Given the description of an element on the screen output the (x, y) to click on. 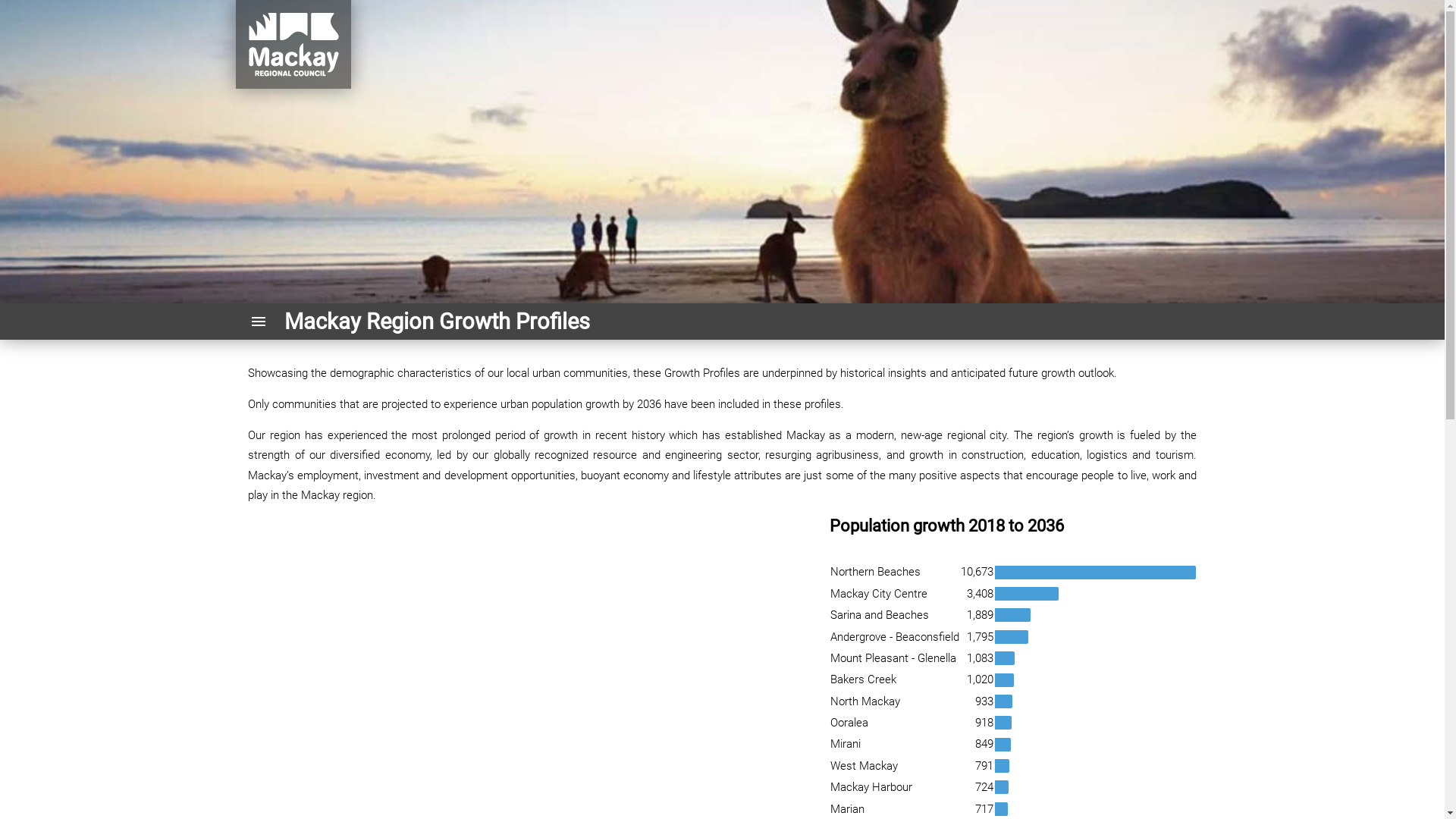
West Mackay Element type: text (863, 765)
Mirani Element type: text (845, 743)
Ooralea Element type: text (849, 722)
Northern Beaches Element type: text (875, 571)
Marian Element type: text (847, 808)
Mackay Harbour Element type: text (871, 786)
Bakers Creek Element type: text (863, 679)
Sarina and Beaches Element type: text (879, 614)
Mount Pleasant - Glenella Element type: text (893, 658)
North Mackay Element type: text (865, 701)
Andergrove - Beaconsfield Element type: text (894, 636)
Mackay City Centre Element type: text (878, 593)
